Given the description of an element on the screen output the (x, y) to click on. 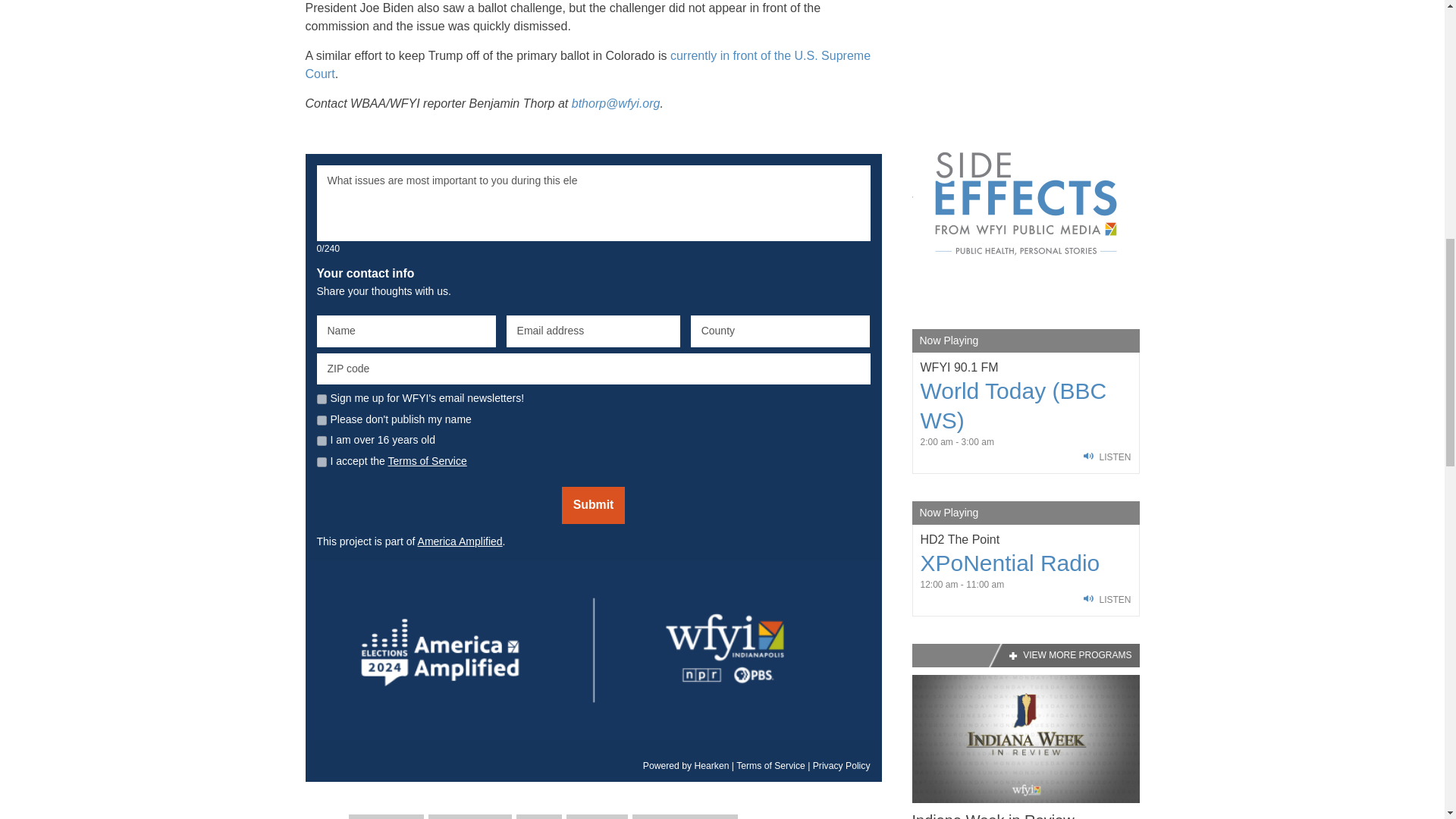
on (321, 461)
on (321, 440)
3rd party ad content (1024, 40)
on (321, 398)
on (321, 420)
